Given the description of an element on the screen output the (x, y) to click on. 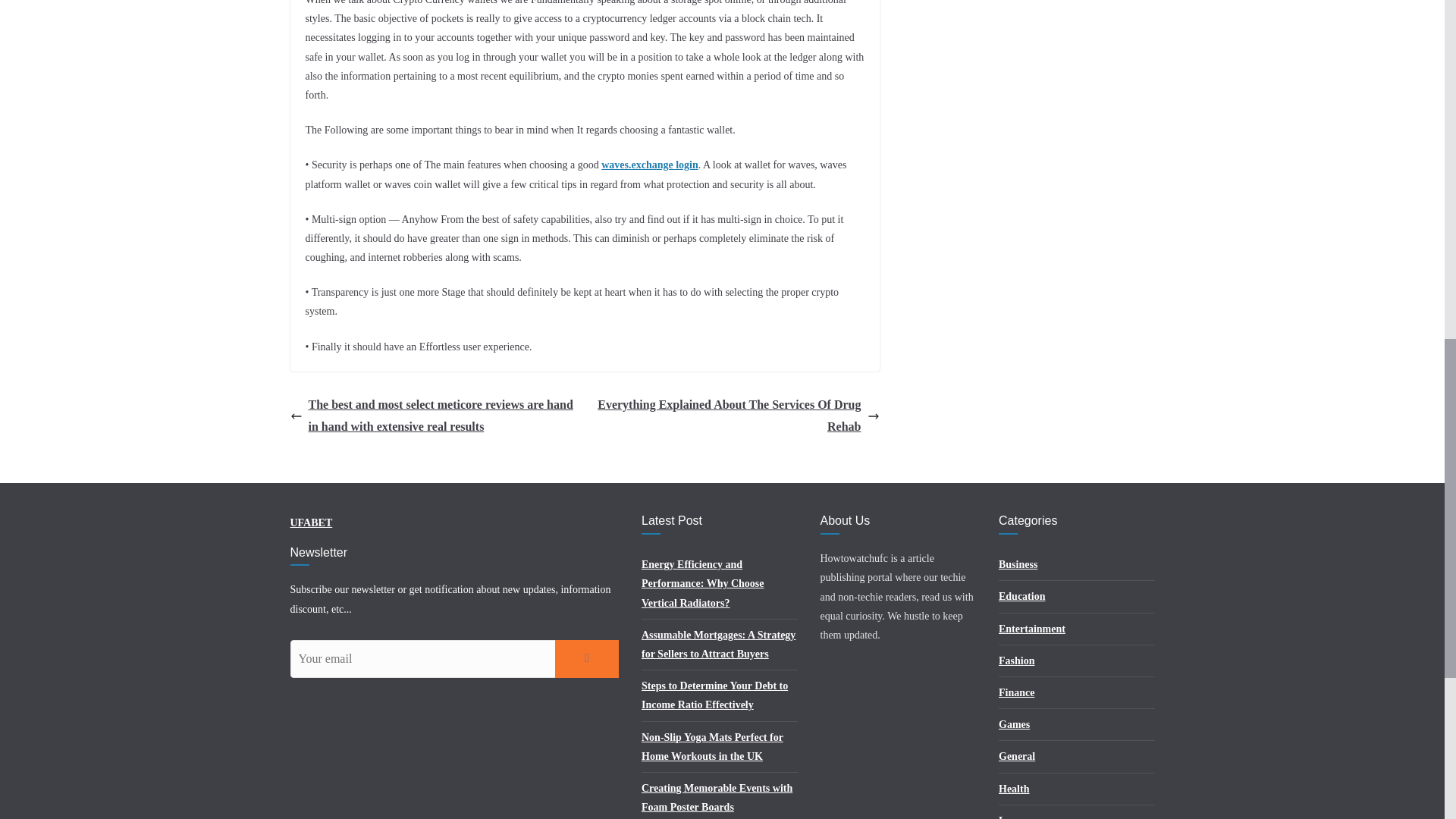
Business (1017, 564)
Non-Slip Yoga Mats Perfect for Home Workouts in the UK (712, 747)
Education (1021, 595)
Creating Memorable Events with Foam Poster Boards (717, 797)
waves.exchange login (649, 164)
Entertainment (1031, 628)
UFABET (310, 522)
General (1016, 756)
Games (1013, 724)
Law (1007, 816)
Steps to Determine Your Debt to Income Ratio Effectively (714, 695)
Finance (1015, 692)
Health (1013, 788)
